Given the description of an element on the screen output the (x, y) to click on. 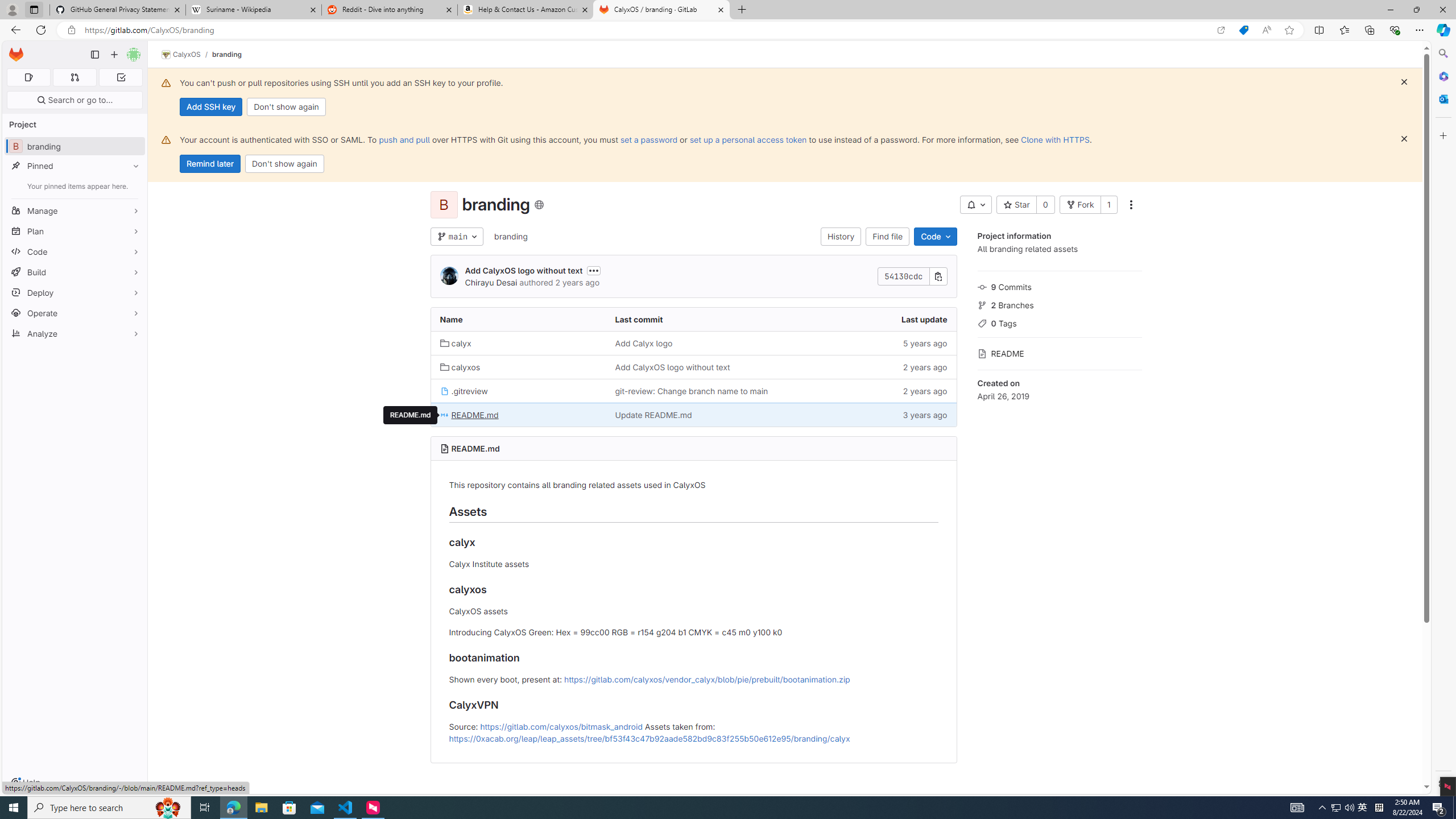
Chirayu Desai's avatar (448, 275)
README (1058, 352)
Operate (74, 312)
Deploy (74, 292)
2 years ago (868, 390)
Remind later (210, 163)
0 Tags (1058, 322)
Chirayu Desai (490, 282)
calyxos (459, 367)
https://gitlab.com/calyxos/bitmask_android (561, 726)
calyx (517, 342)
